Given the description of an element on the screen output the (x, y) to click on. 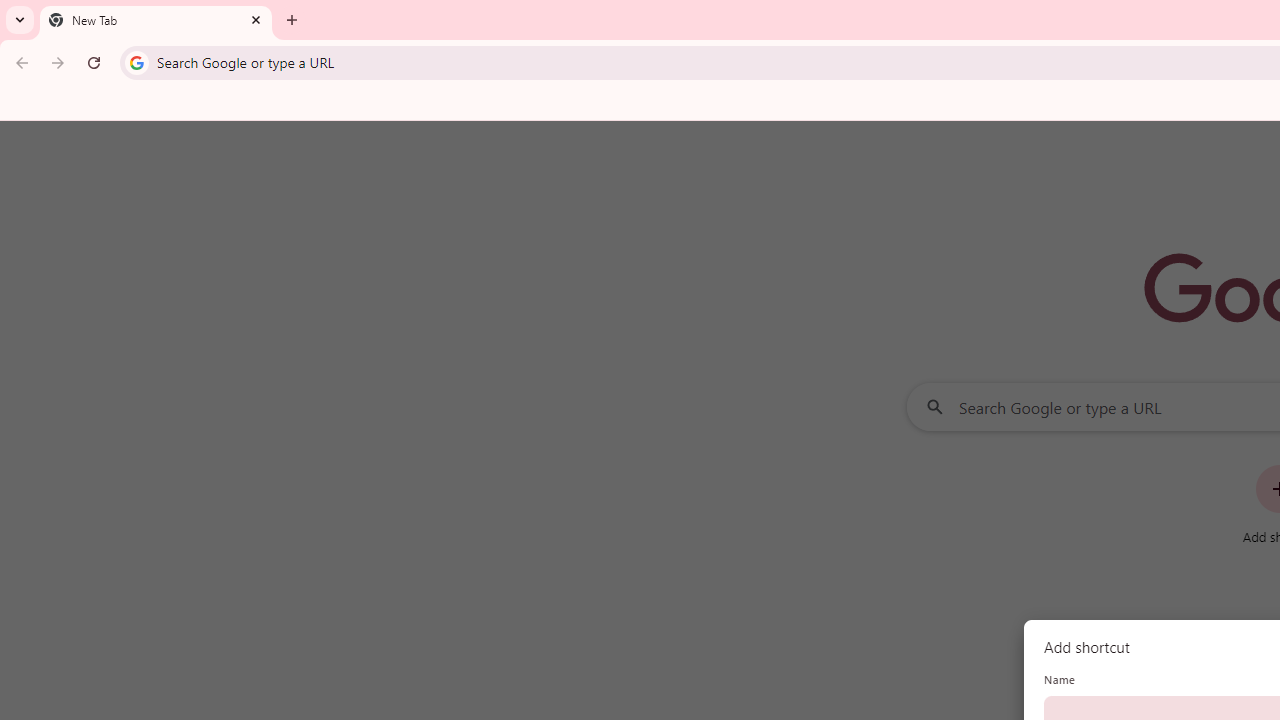
New Tab (156, 20)
